Given the description of an element on the screen output the (x, y) to click on. 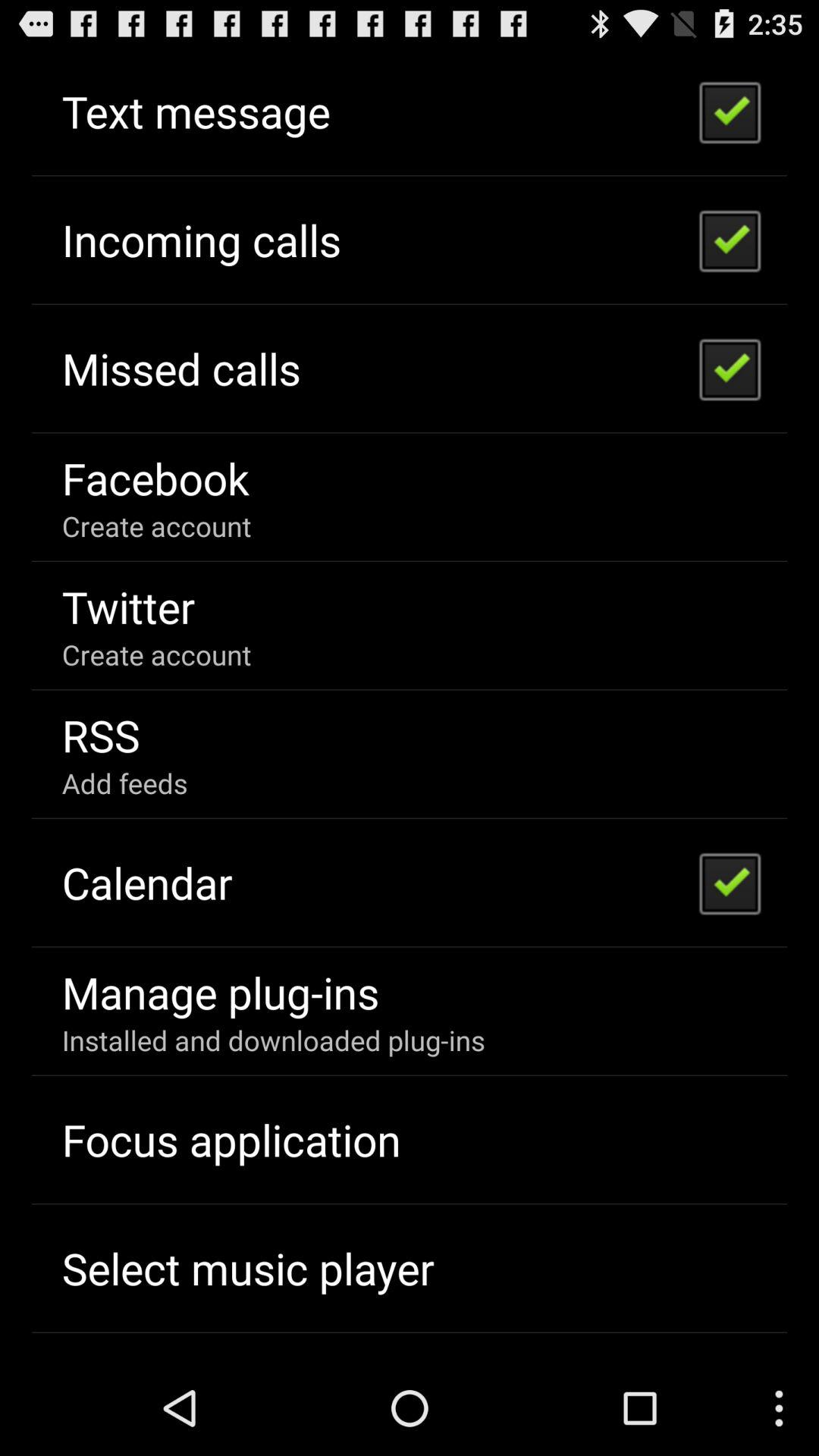
launch the app below focus application icon (247, 1267)
